Given the description of an element on the screen output the (x, y) to click on. 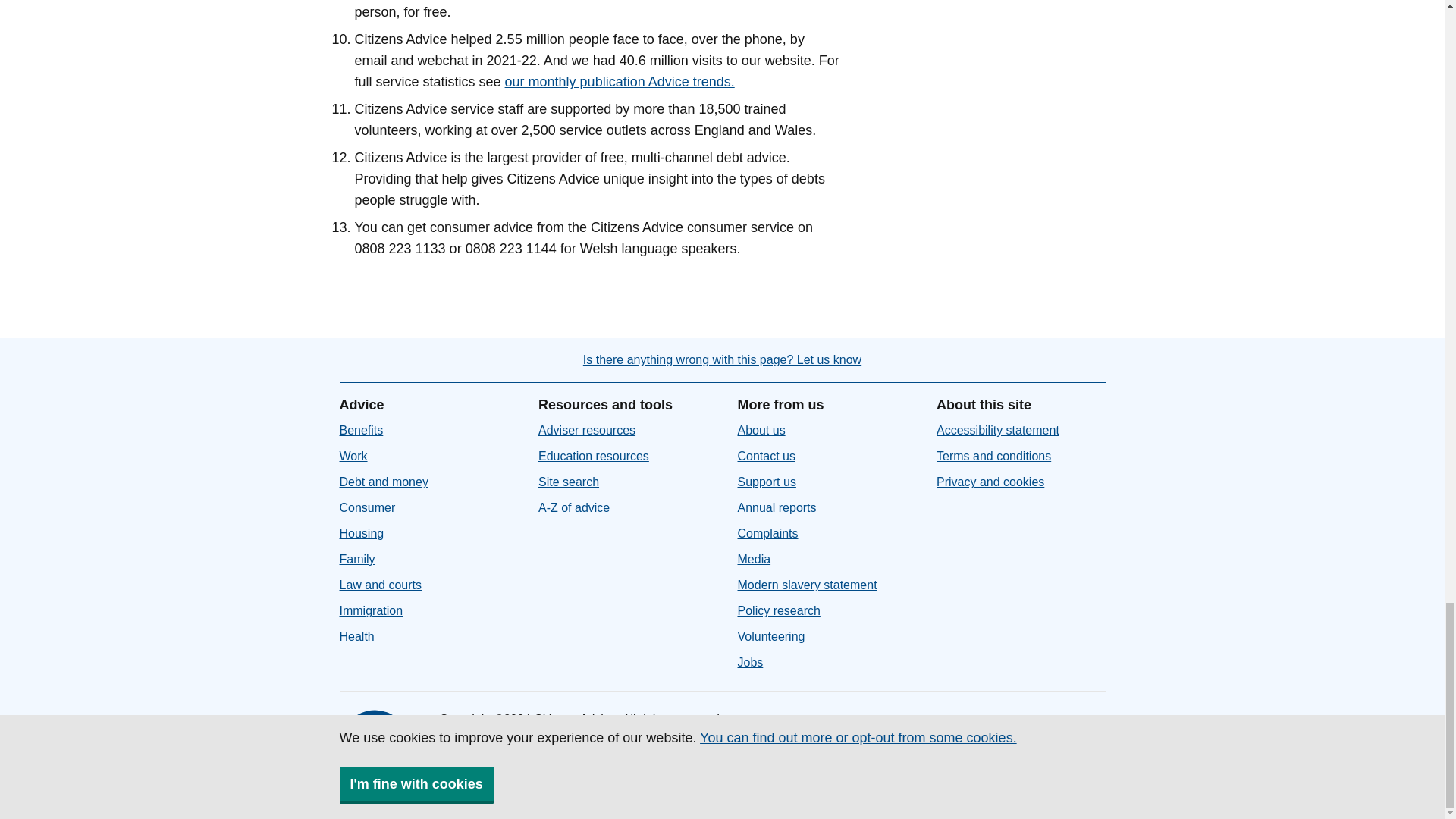
Work (353, 455)
Debt and money (383, 481)
Family (357, 558)
Citizens Advice homepage (376, 747)
our monthly publication Advice trends. (620, 81)
Site search (568, 481)
Consumer (367, 507)
Benefits (361, 430)
Education resources (593, 455)
Is there anything wrong with this page? Let us know (722, 359)
Adviser resources (586, 430)
Health (356, 635)
Housing (361, 533)
Law and courts (380, 584)
Immigration (371, 610)
